Given the description of an element on the screen output the (x, y) to click on. 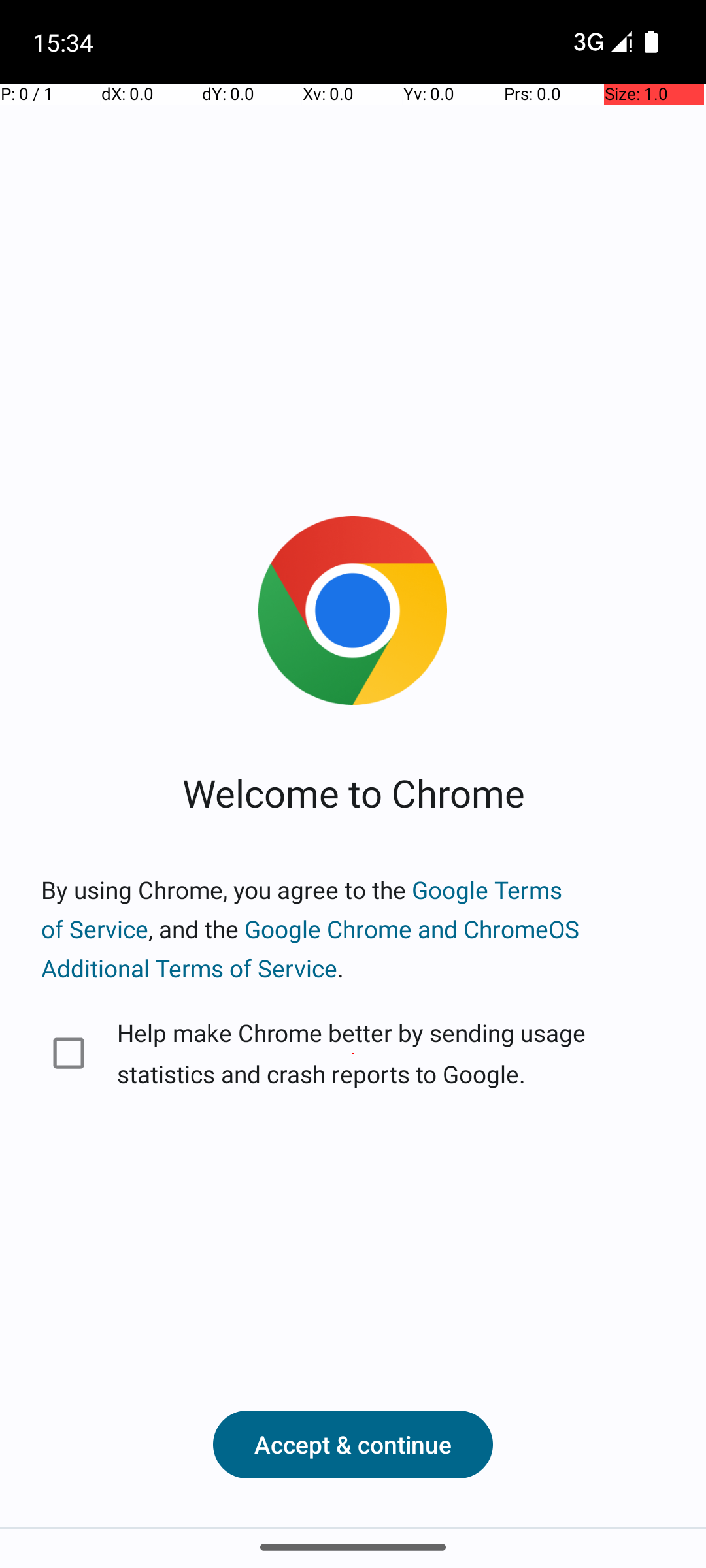
By using Chrome, you agree to the Google Terms of Service, and the Google Chrome and ChromeOS Additional Terms of Service. Element type: android.widget.TextView (352, 928)
Help make Chrome better by sending usage statistics and crash reports to Google. Element type: android.widget.CheckBox (352, 1053)
